Given the description of an element on the screen output the (x, y) to click on. 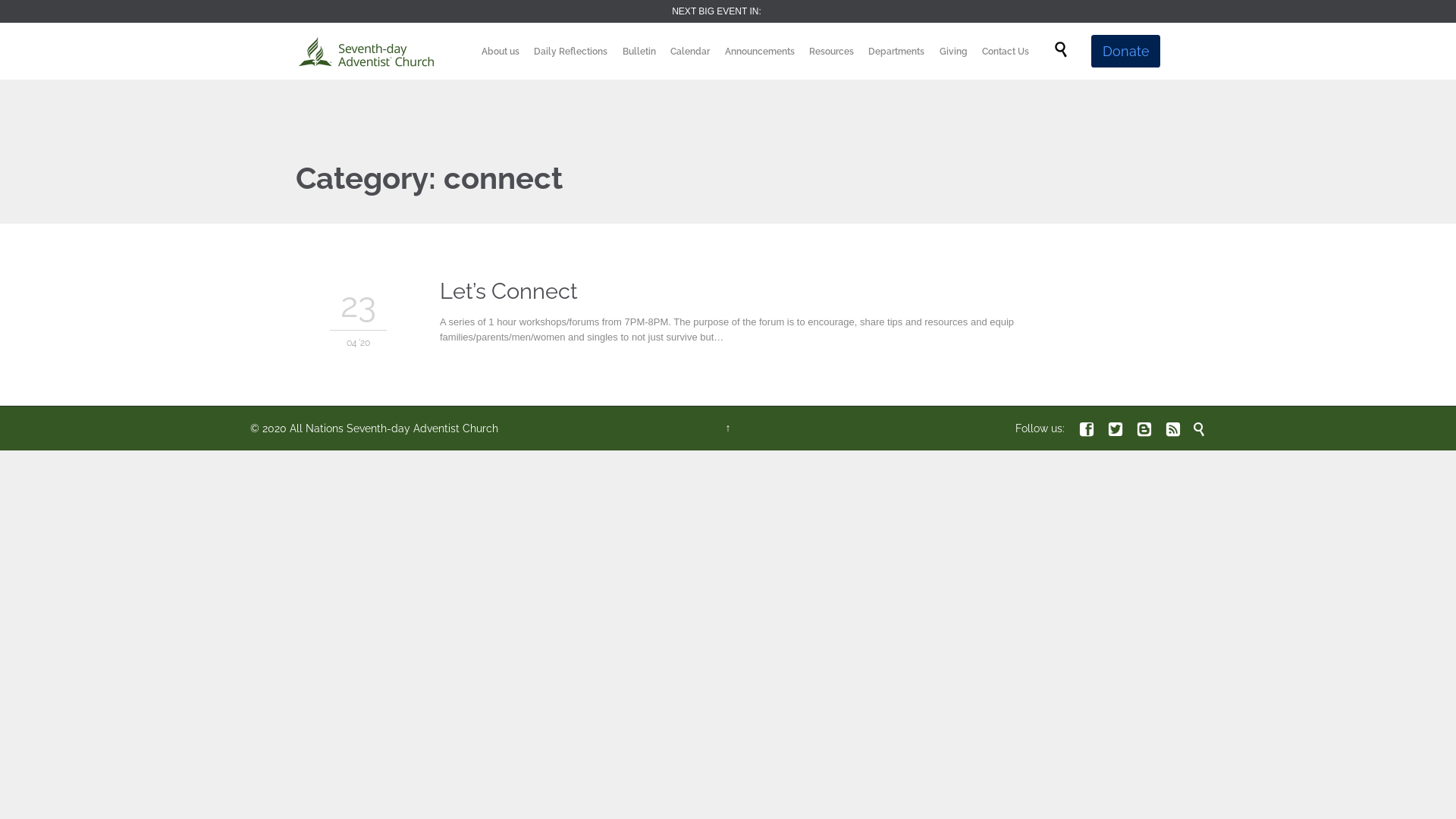
Bulletin Element type: text (639, 51)
About us Element type: text (500, 51)
Daily Reflections Element type: text (570, 51)
Giving Element type: text (953, 51)
Departments Element type: text (895, 51)
Contact Us Element type: text (1005, 51)
Skip to content Element type: text (1037, 34)
All Nations SDA Church Element type: hover (365, 50)
Donate Element type: text (1125, 50)
Calendar Element type: text (690, 51)
Resources Element type: text (831, 51)
Announcements Element type: text (758, 51)
